Given the description of an element on the screen output the (x, y) to click on. 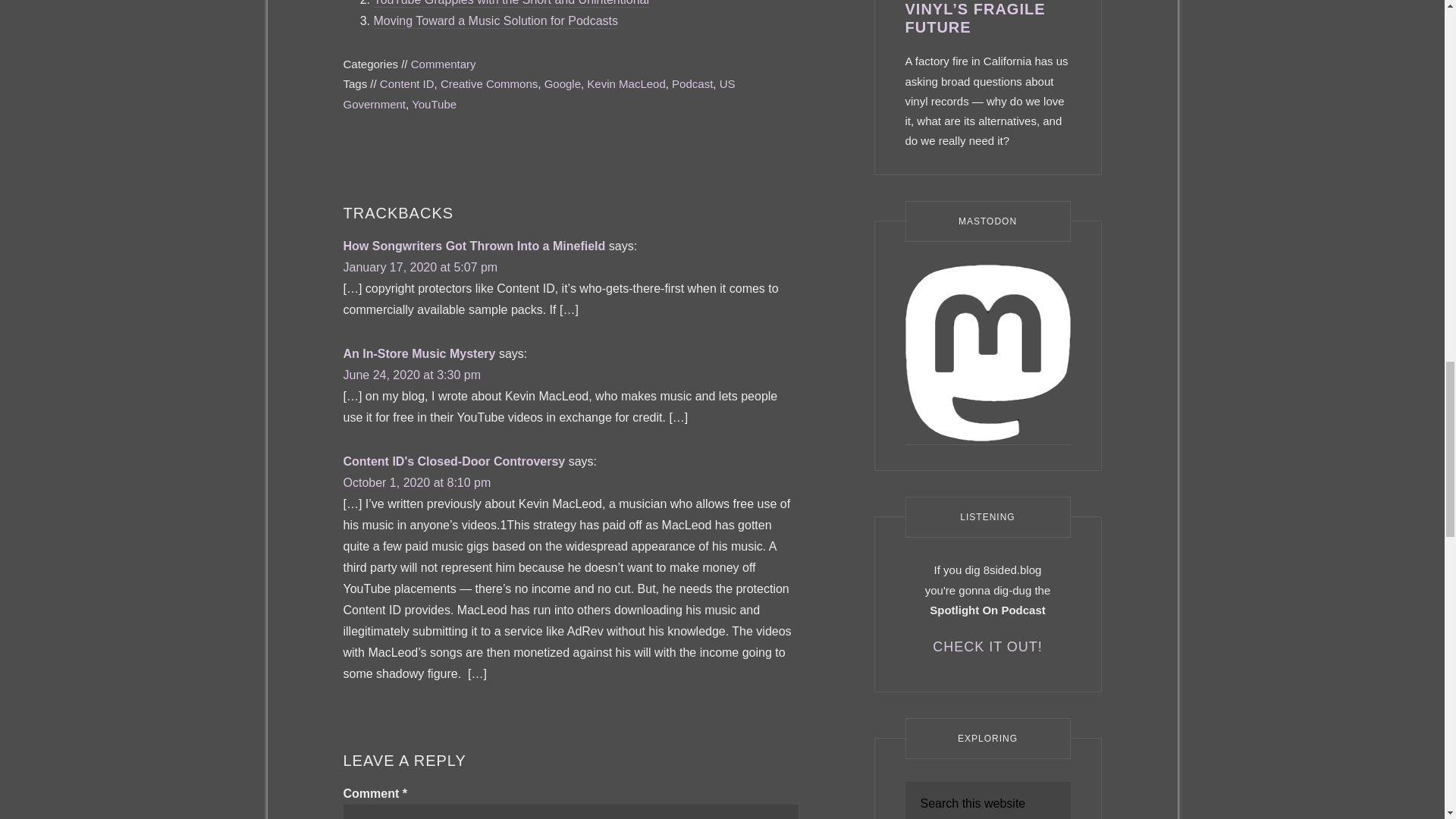
Moving Toward a Music Solution for Podcasts (494, 21)
Moving Toward a Music Solution for Podcasts (494, 21)
An In-Store Music Mystery (418, 353)
January 17, 2020 at 5:07 pm (419, 267)
June 24, 2020 at 3:30 pm (411, 374)
Content ID's Closed-Door Controversy (453, 461)
Kevin MacLeod (625, 83)
YouTube Grapples with the Short and Unintentional (510, 3)
Google (562, 83)
